Given the description of an element on the screen output the (x, y) to click on. 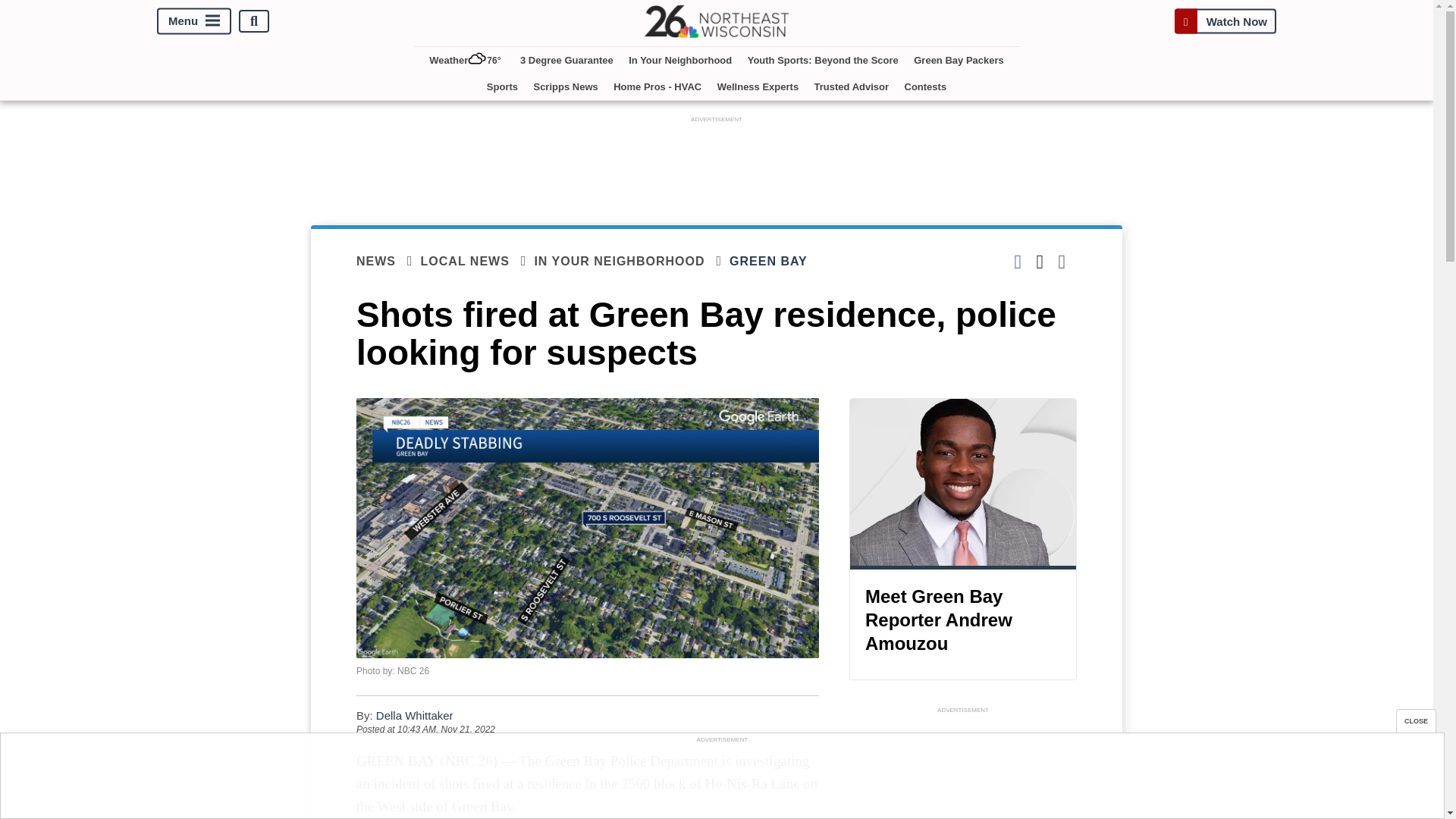
3rd party ad content (962, 768)
Menu (194, 21)
3rd party ad content (716, 160)
3rd party ad content (721, 780)
Watch Now (1224, 21)
